Given the description of an element on the screen output the (x, y) to click on. 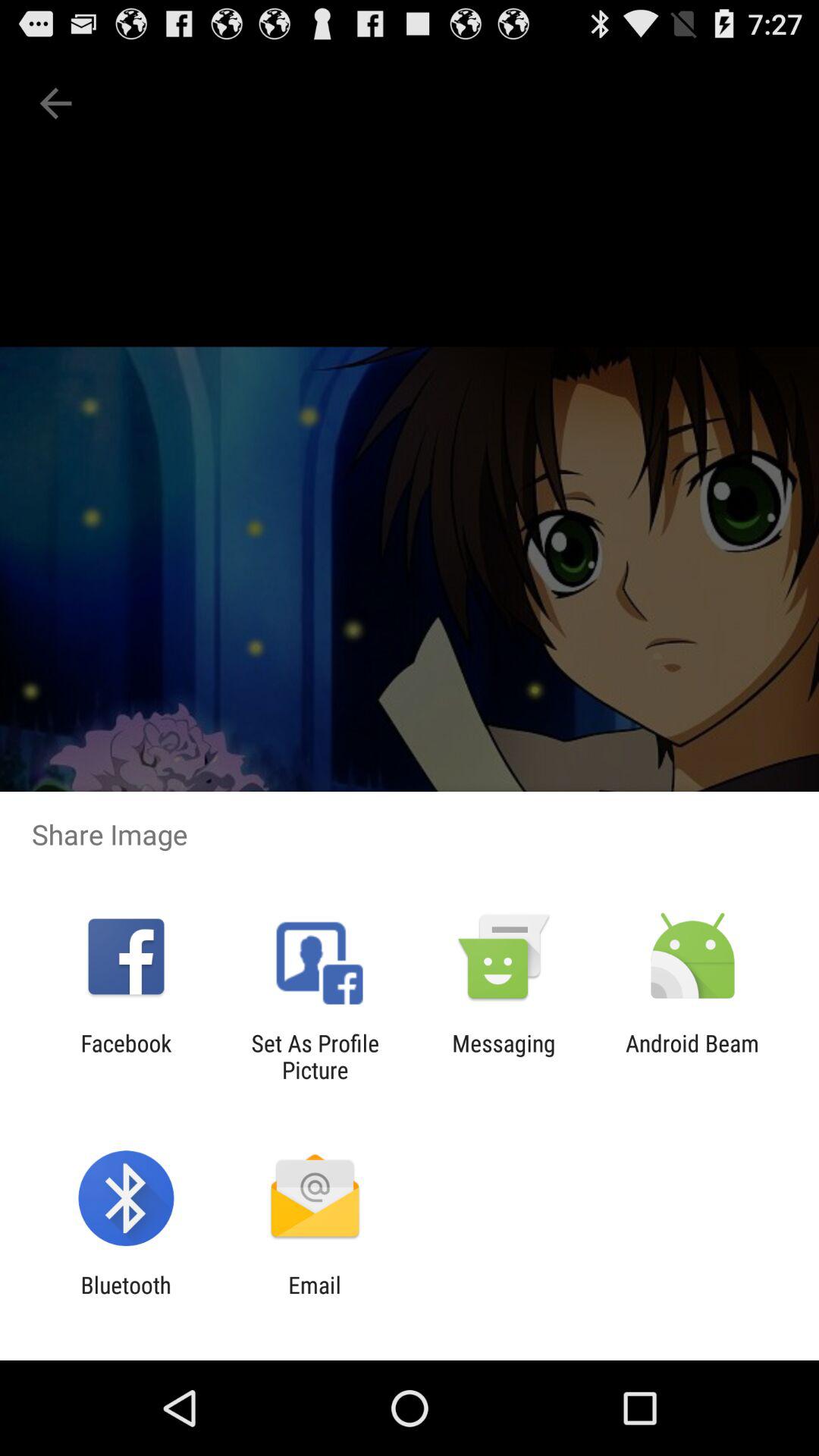
choose bluetooth item (125, 1298)
